Given the description of an element on the screen output the (x, y) to click on. 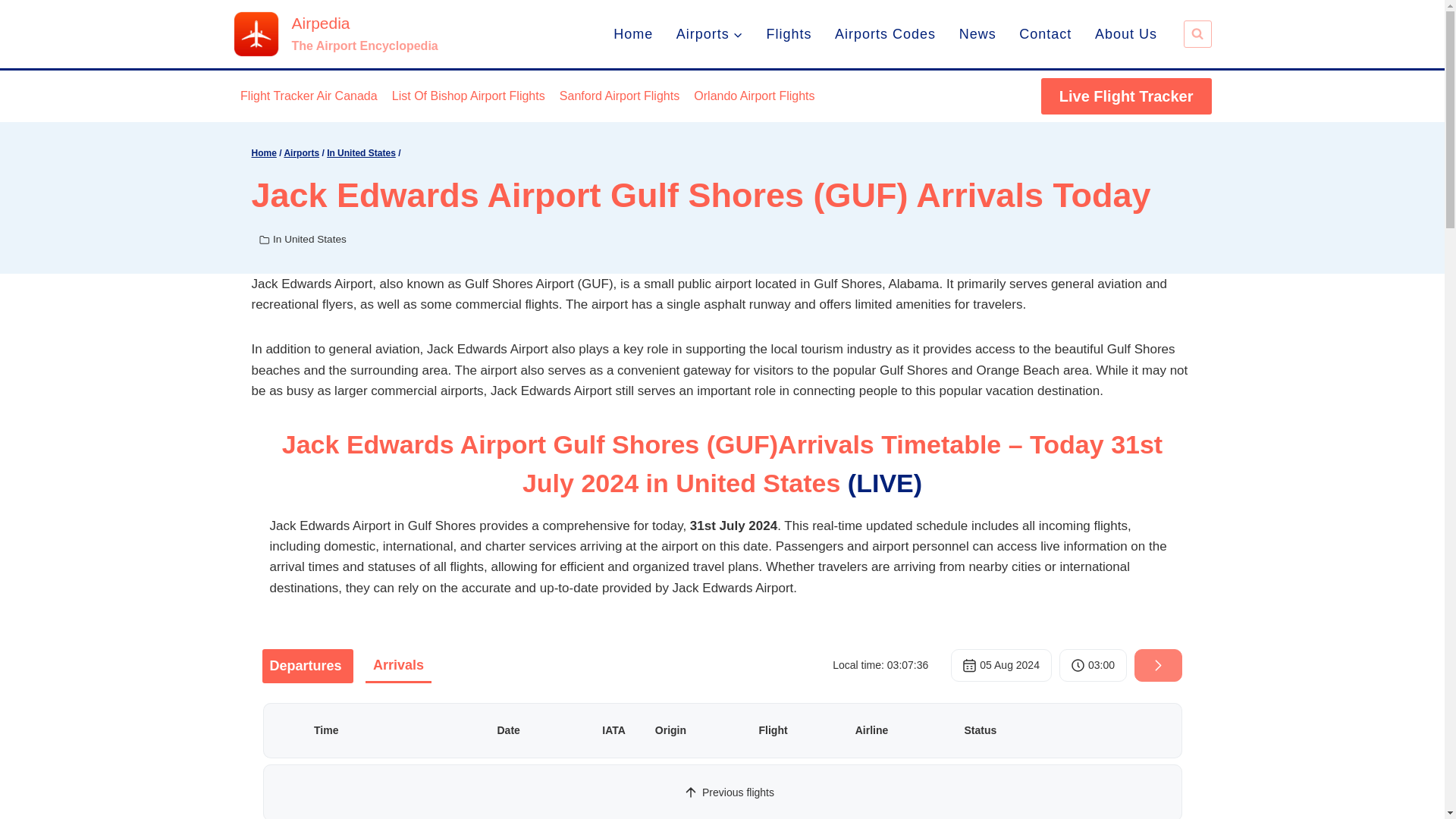
In United States (309, 238)
Orlando Airport Flights (754, 96)
Airports (300, 153)
Sanford Airport Flights (618, 96)
Live Flight Tracker (1126, 95)
Airports (710, 33)
About Us (335, 33)
Home (1126, 33)
Airports Codes (263, 153)
In United States (885, 33)
Flights (361, 153)
Contact (789, 33)
Home (1045, 33)
Flight Tracker Air Canada (633, 33)
